Given the description of an element on the screen output the (x, y) to click on. 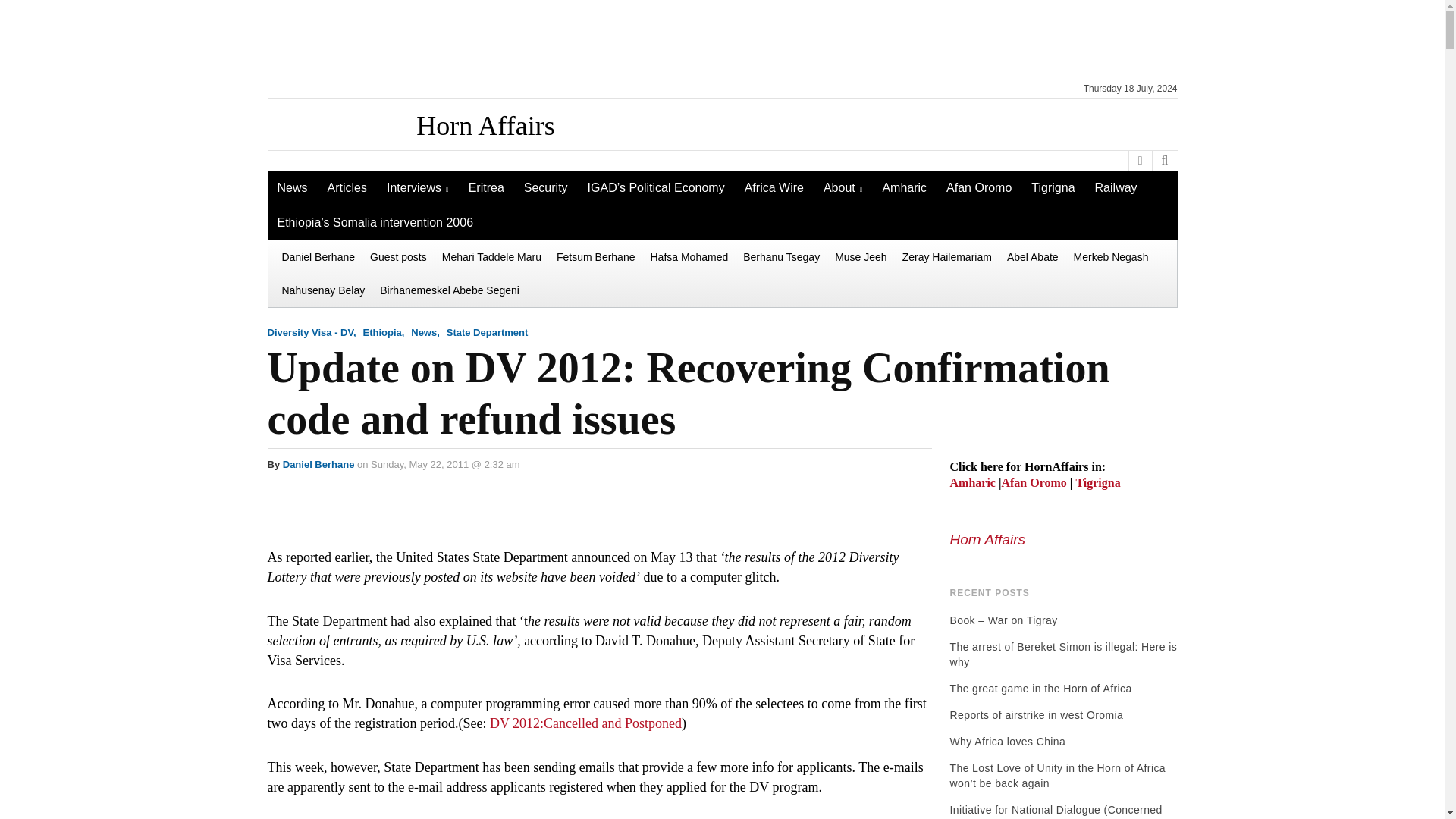
Horn Affairs (484, 125)
Railway (1115, 187)
Africa Wire (774, 187)
Security (545, 187)
Interviews (417, 187)
Tigrigna (1053, 187)
News (291, 187)
Posts by Daniel Berhane (318, 464)
Afan Oromo (979, 187)
About (842, 187)
Articles (347, 187)
Eritrea (485, 187)
Amharic (904, 187)
